Given the description of an element on the screen output the (x, y) to click on. 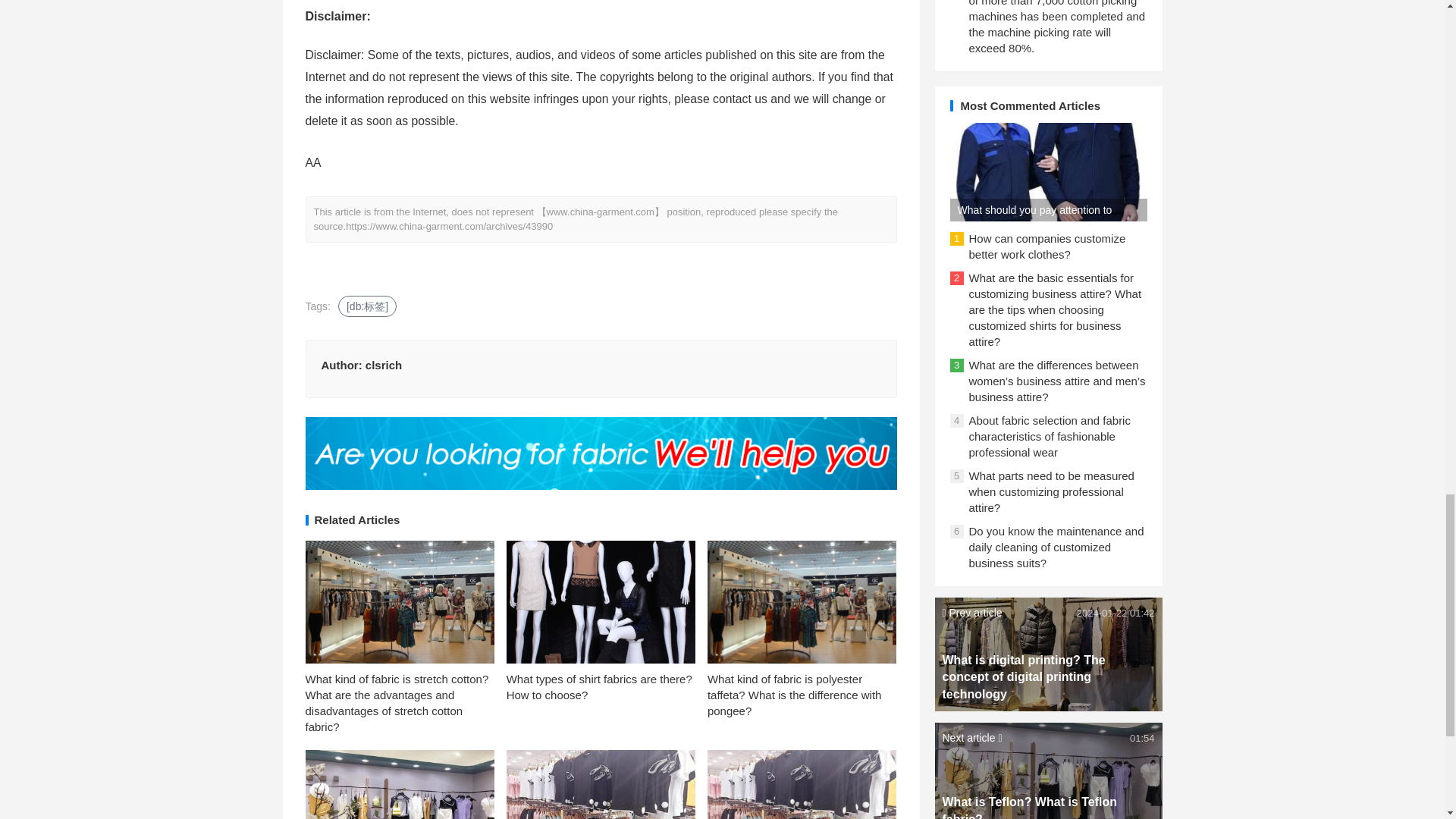
clsrich (383, 364)
What types of shirt fabrics are there? How to choose? (599, 686)
